Given the description of an element on the screen output the (x, y) to click on. 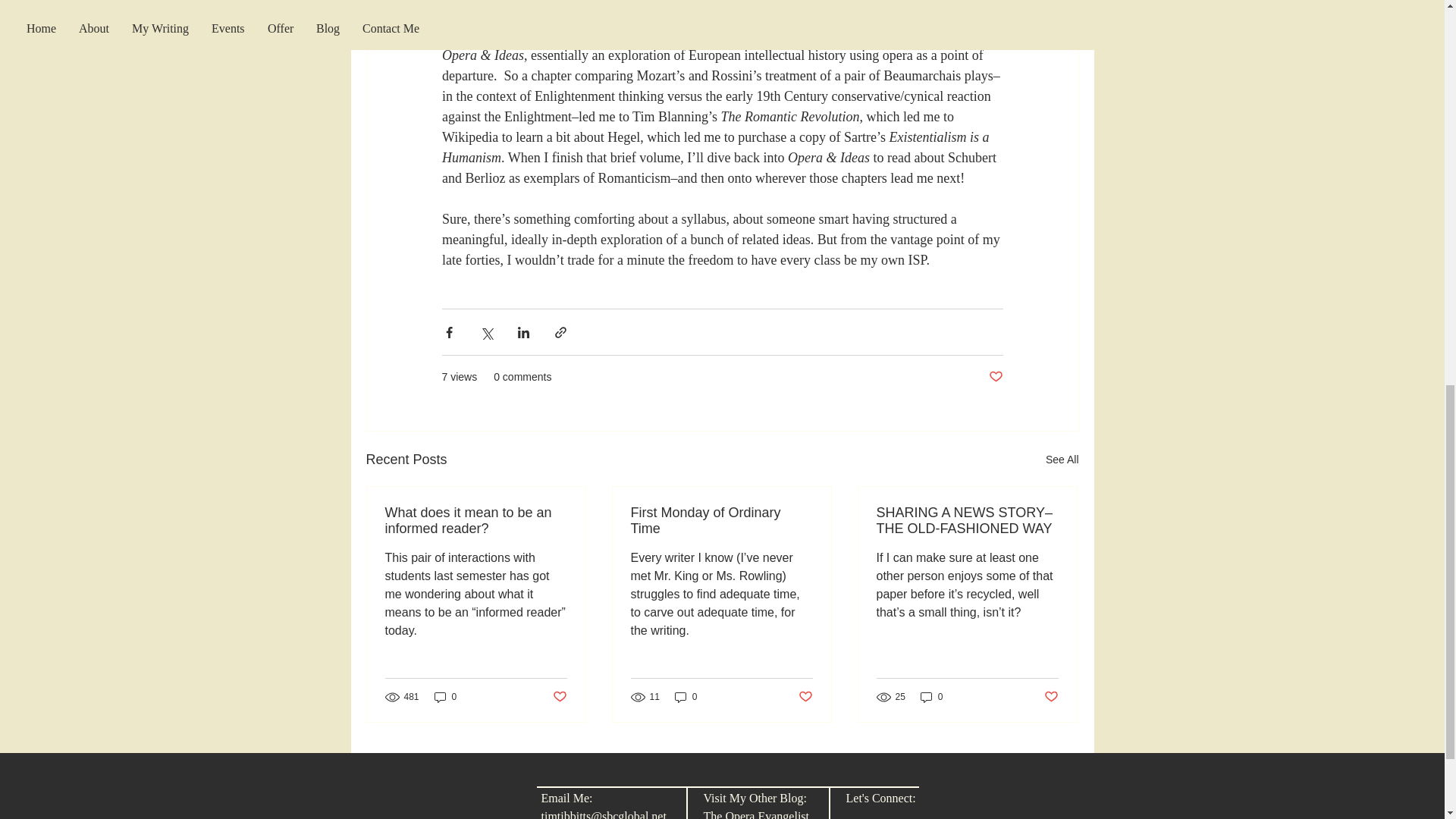
What does it mean to be an informed reader? (476, 521)
The Opera Evangelist (756, 814)
0 (931, 697)
Post not marked as liked (804, 696)
First Monday of Ordinary Time (721, 521)
0 (445, 697)
Post not marked as liked (1050, 696)
0 (685, 697)
Post not marked as liked (558, 696)
Post not marked as liked (995, 376)
